Given the description of an element on the screen output the (x, y) to click on. 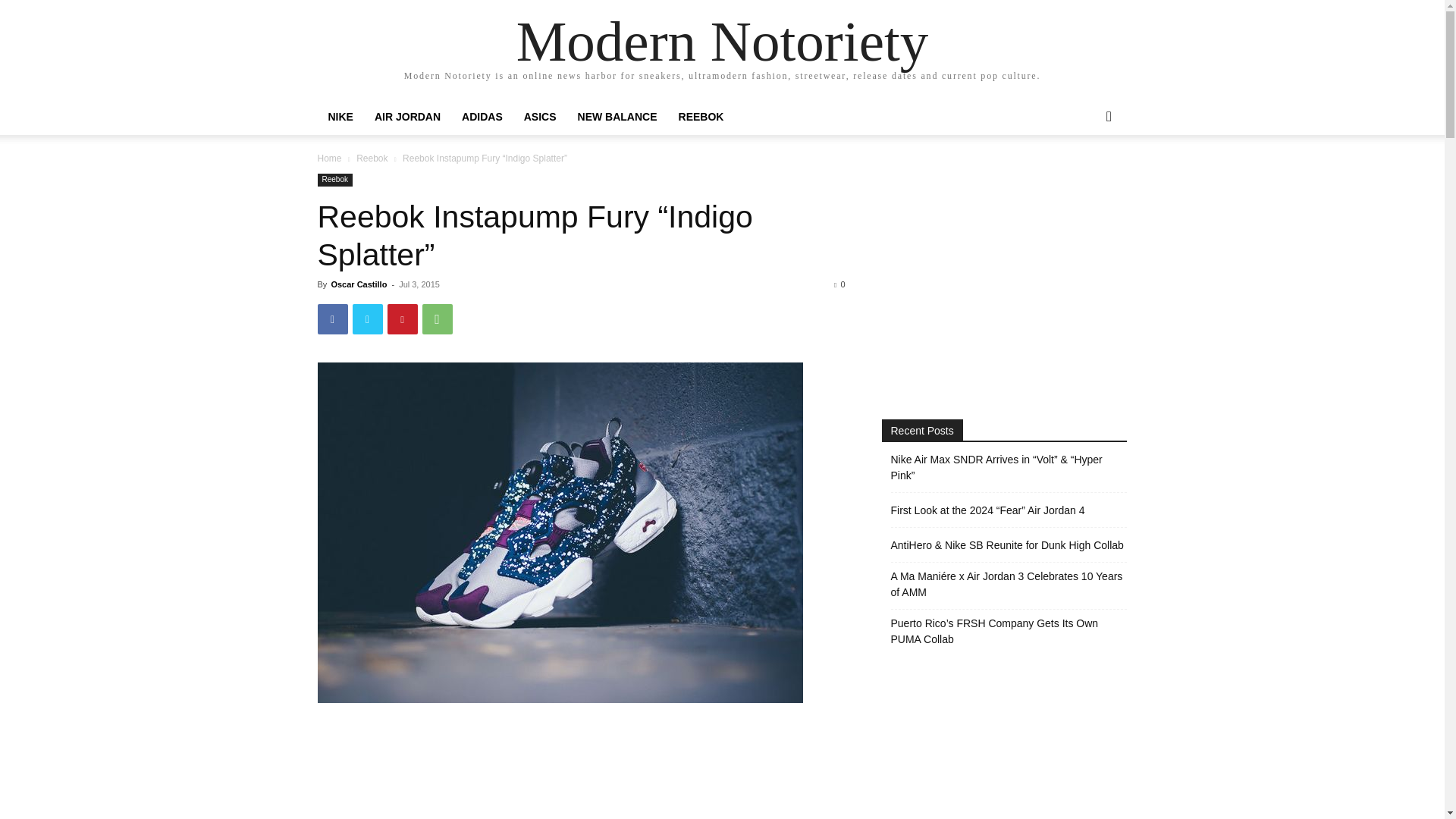
Home (328, 158)
Oscar Castillo (358, 284)
Reebok (334, 179)
REEBOK (701, 116)
NEW BALANCE (617, 116)
Twitter (366, 318)
ADIDAS (482, 116)
WhatsApp (436, 318)
Pinterest (401, 318)
Reebok (371, 158)
Advertisement (579, 770)
View all posts in Reebok (371, 158)
Facebook (332, 318)
0 (839, 284)
Search (1085, 177)
